Given the description of an element on the screen output the (x, y) to click on. 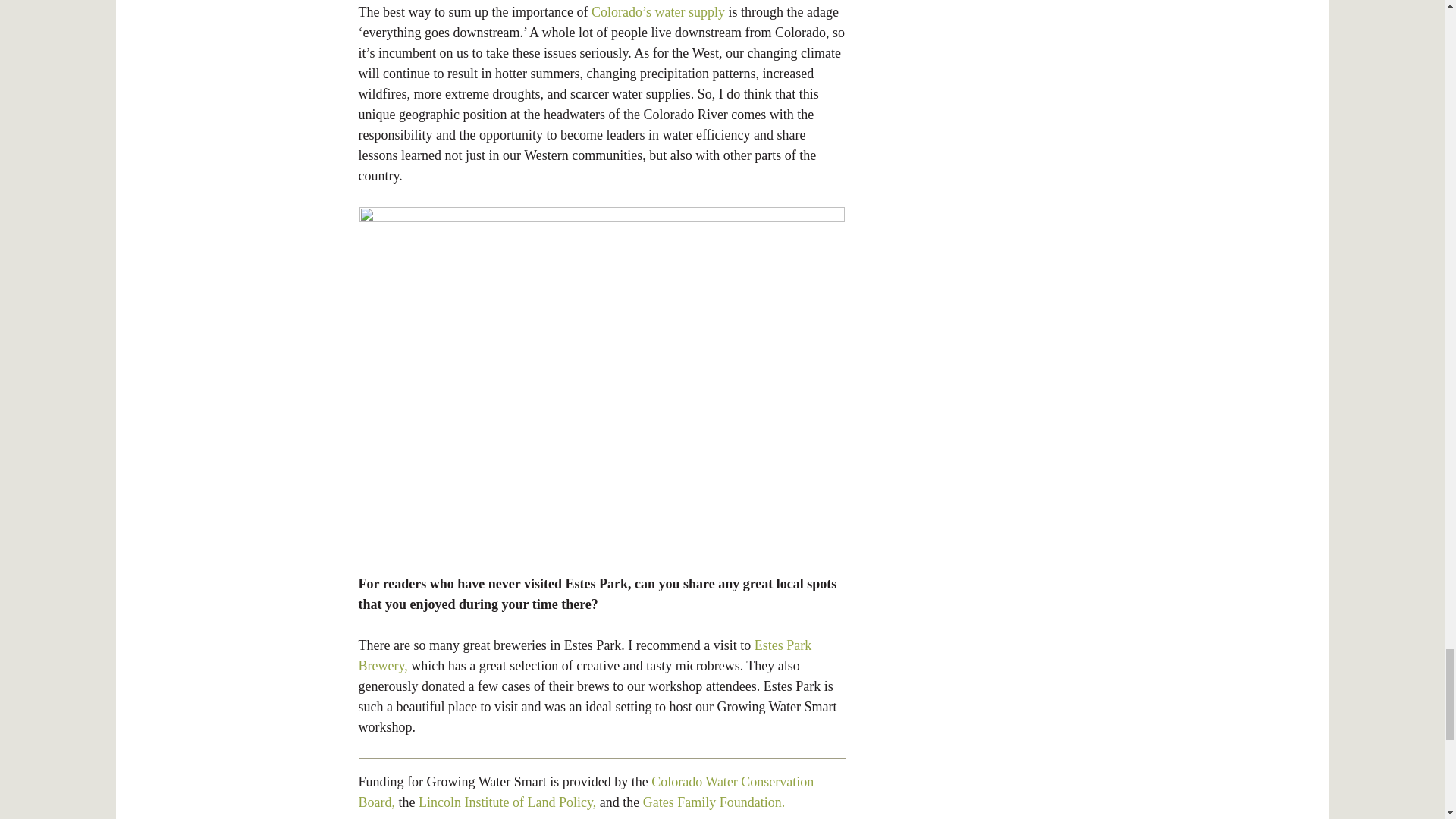
Colorado Water Conservation Board, (585, 791)
Gates Family Foundation. (714, 801)
Lincoln Institute of Land Policy, (507, 801)
Estes Park Brewery, (584, 655)
